Given the description of an element on the screen output the (x, y) to click on. 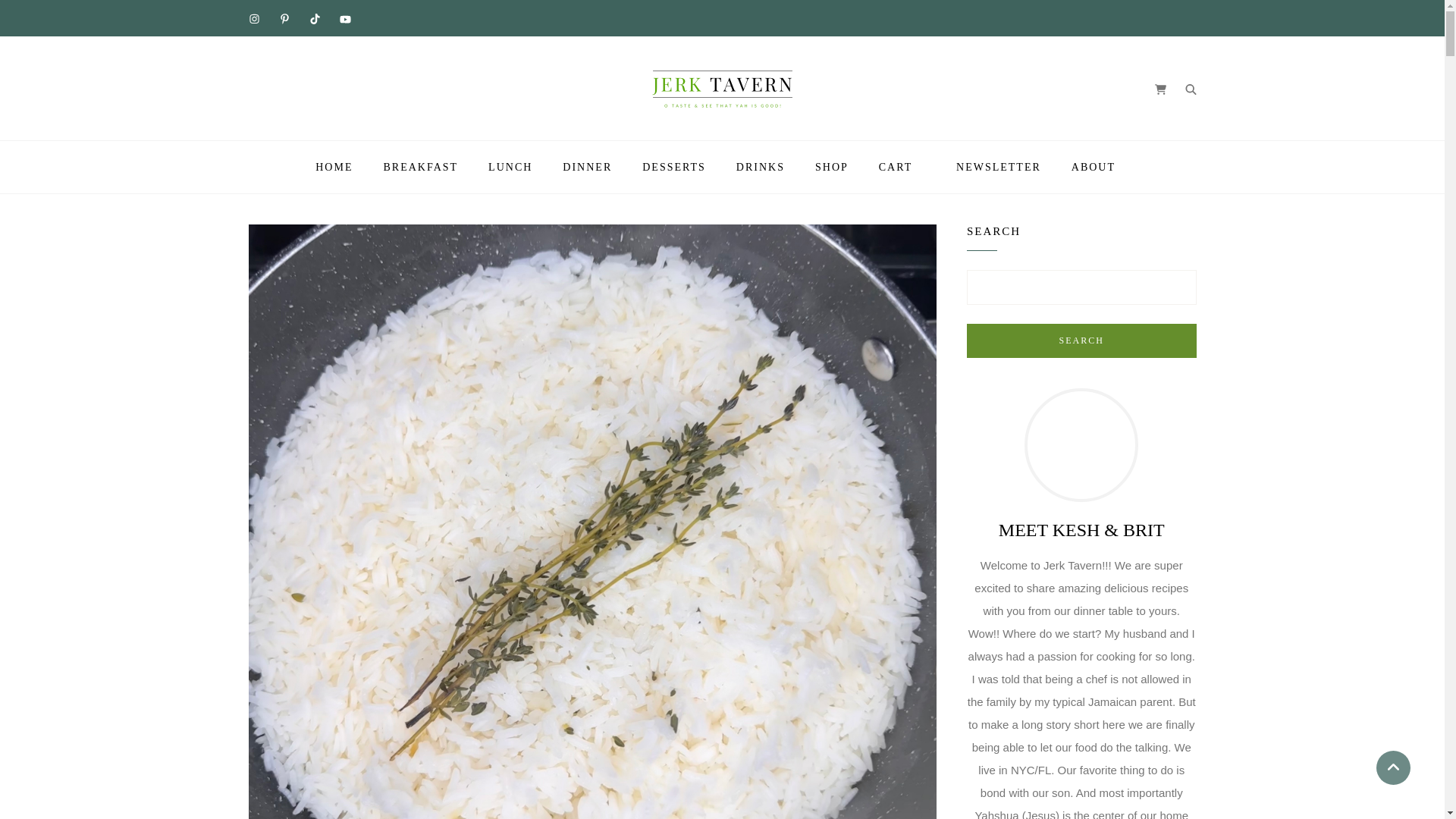
DINNER (586, 166)
DESSERTS (674, 166)
DRINKS (760, 166)
BREAKFAST (420, 166)
NEWSLETTER (998, 166)
